Given the description of an element on the screen output the (x, y) to click on. 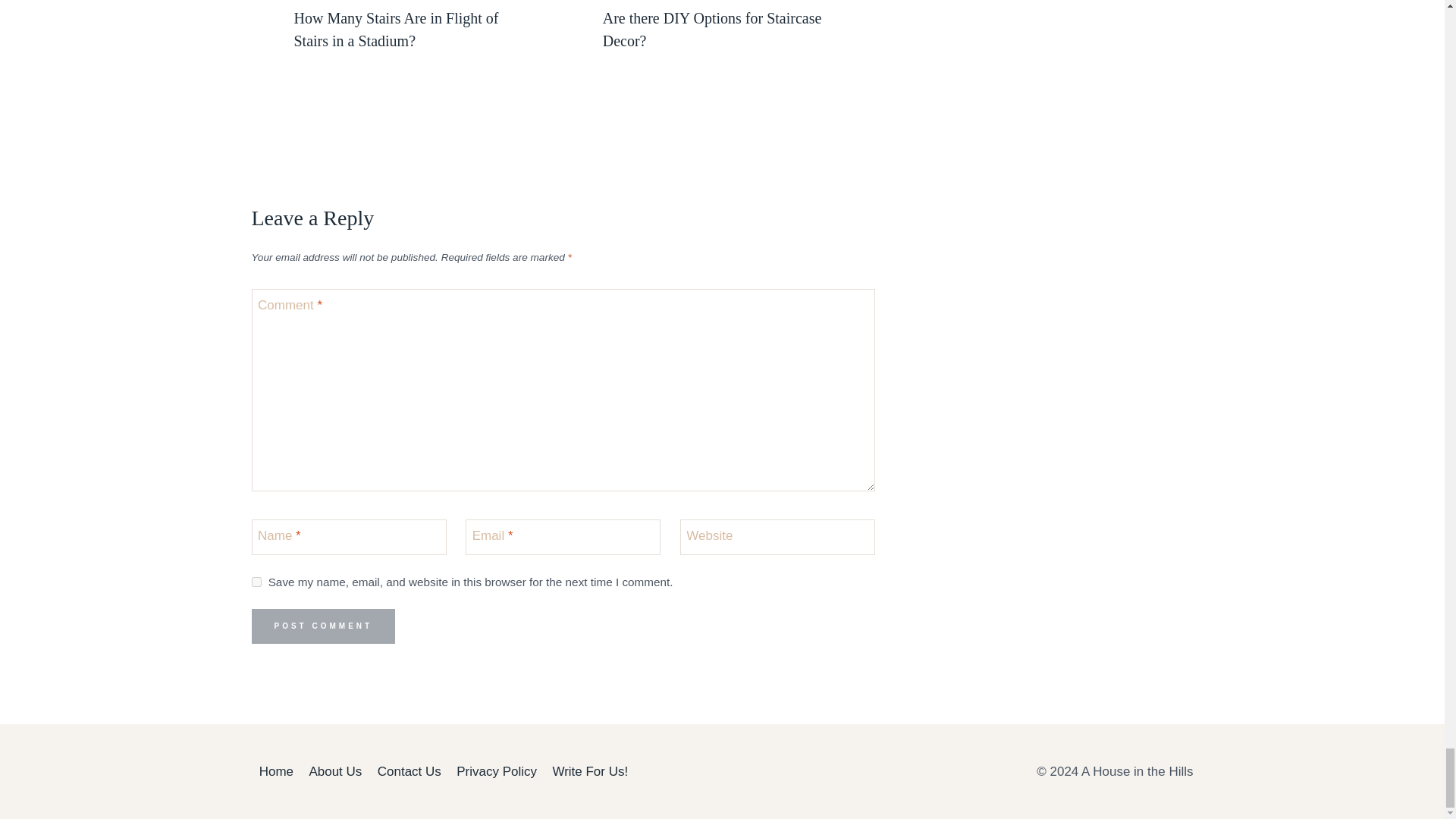
yes (256, 582)
Post Comment (323, 626)
